Given the description of an element on the screen output the (x, y) to click on. 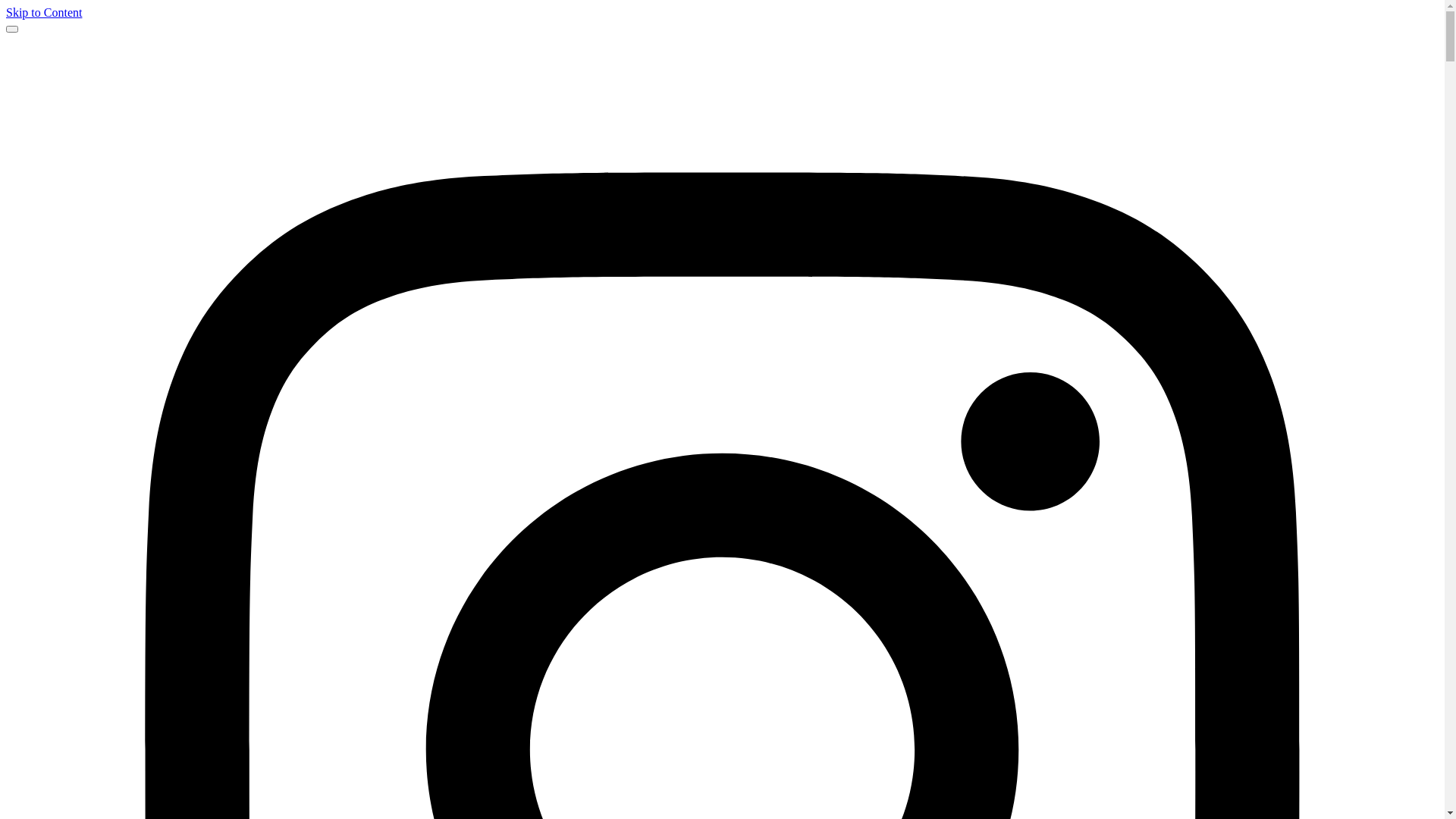
Skip to Content Element type: text (43, 12)
